Given the description of an element on the screen output the (x, y) to click on. 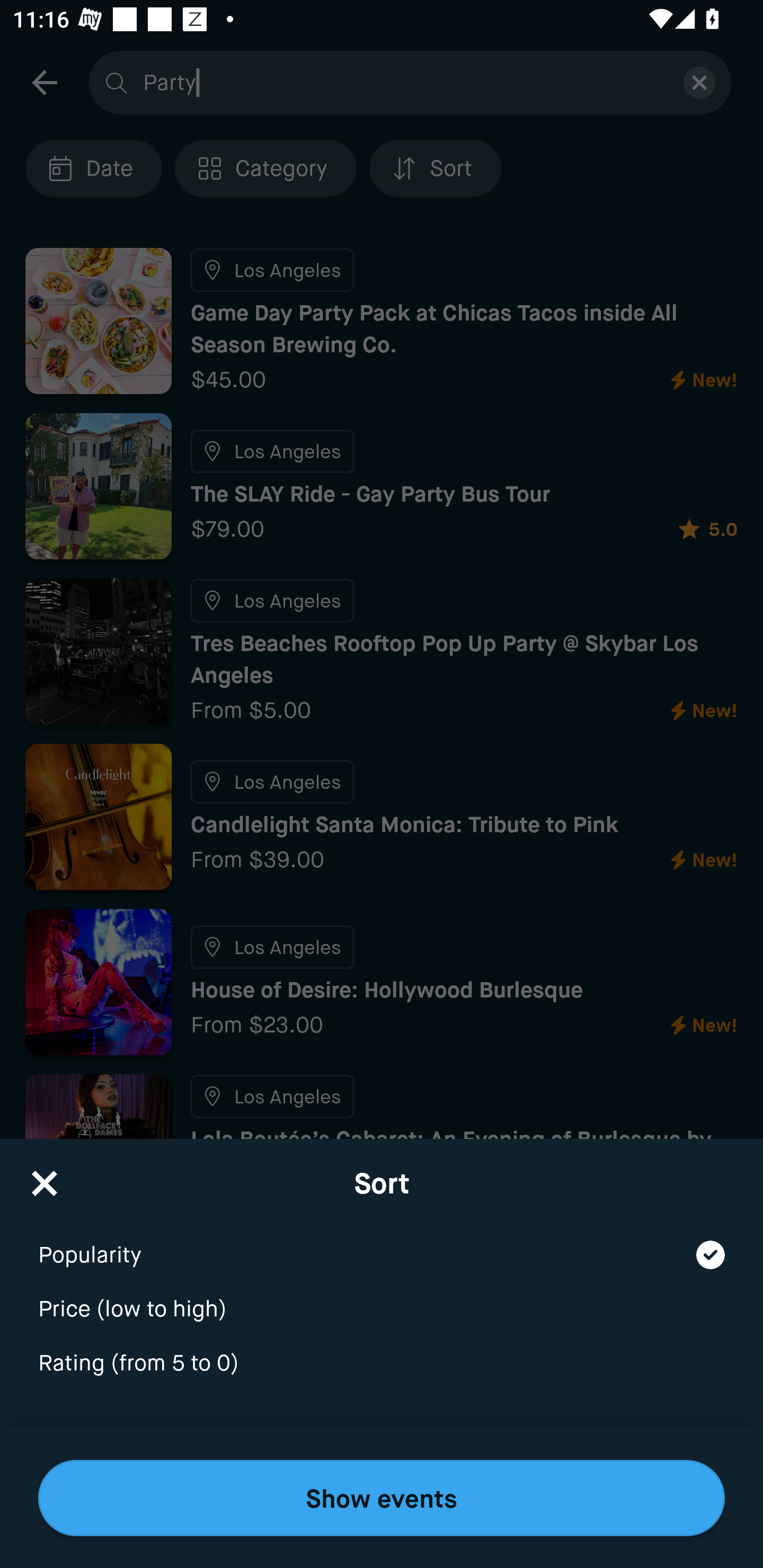
CloseButton (44, 1177)
Popularity Selected Icon (381, 1243)
Price (low to high) (381, 1297)
Rating (from 5 to 0) (381, 1362)
Show events (381, 1497)
